Given the description of an element on the screen output the (x, y) to click on. 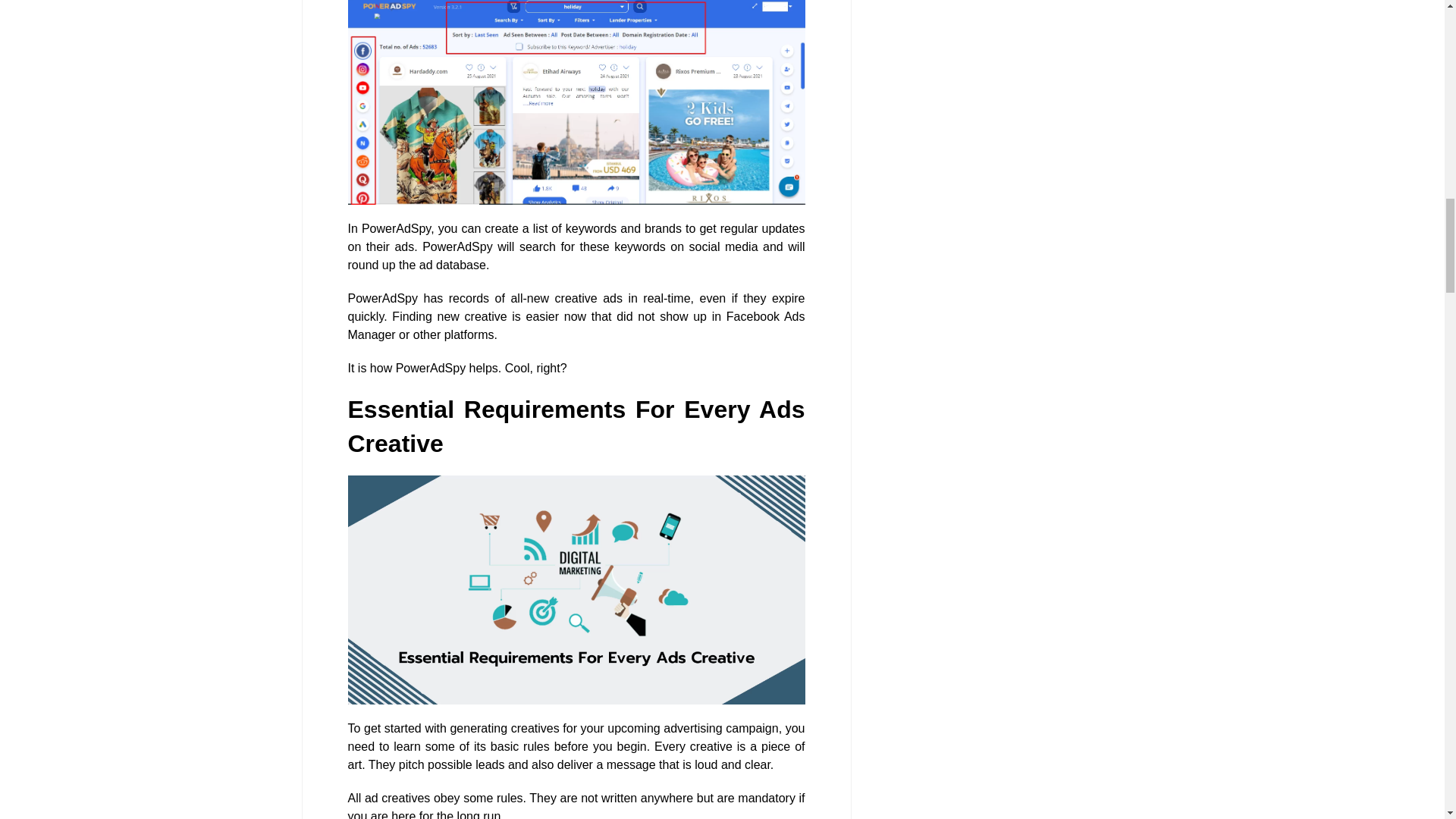
Essential Requirements For Ads (576, 589)
PowerAdSpy Dashboard (576, 102)
